Given the description of an element on the screen output the (x, y) to click on. 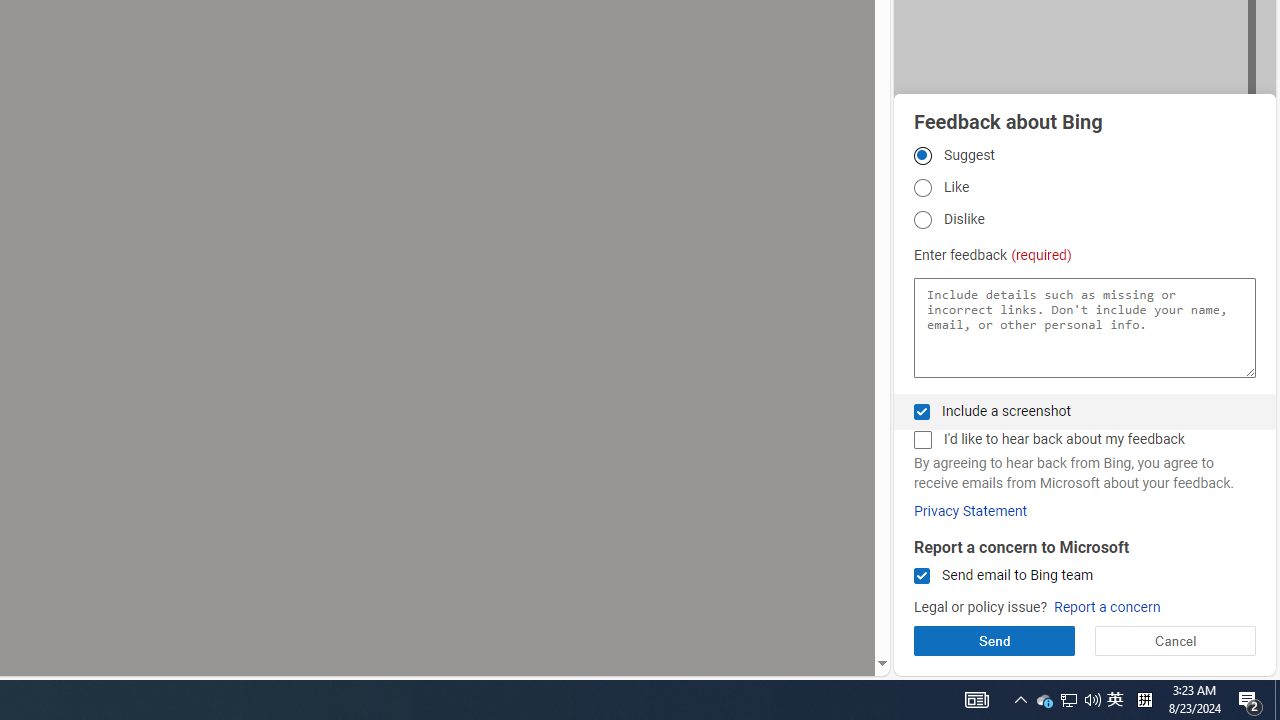
Privacy Statement (970, 511)
Send email to Bing team (921, 575)
Include a screenshot (921, 411)
Report a concern (1106, 607)
I'd like to hear back about my feedback (922, 440)
Cancel (1174, 640)
Send (994, 640)
Suggest (922, 155)
